Given the description of an element on the screen output the (x, y) to click on. 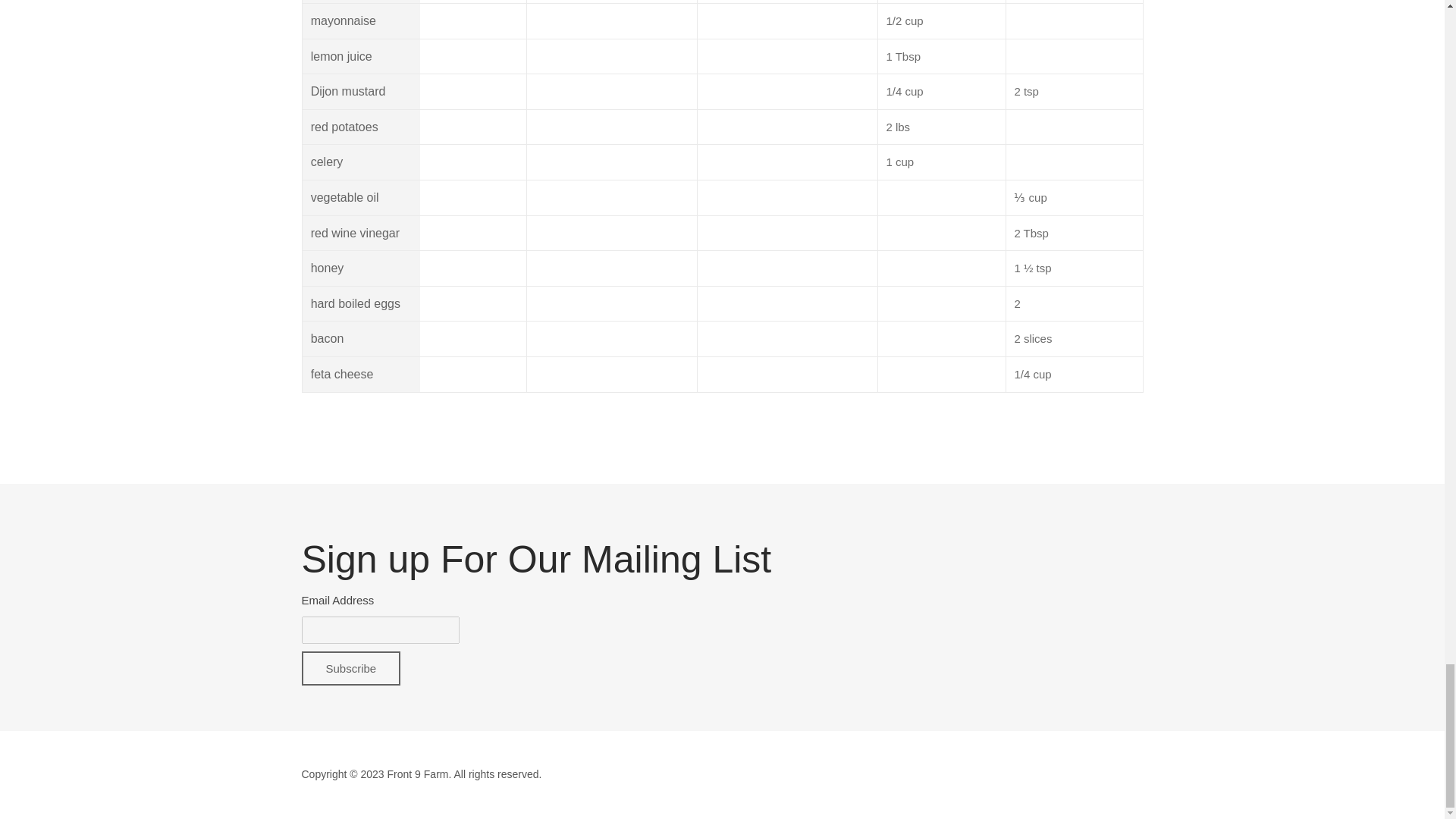
Subscribe (351, 668)
